Given the description of an element on the screen output the (x, y) to click on. 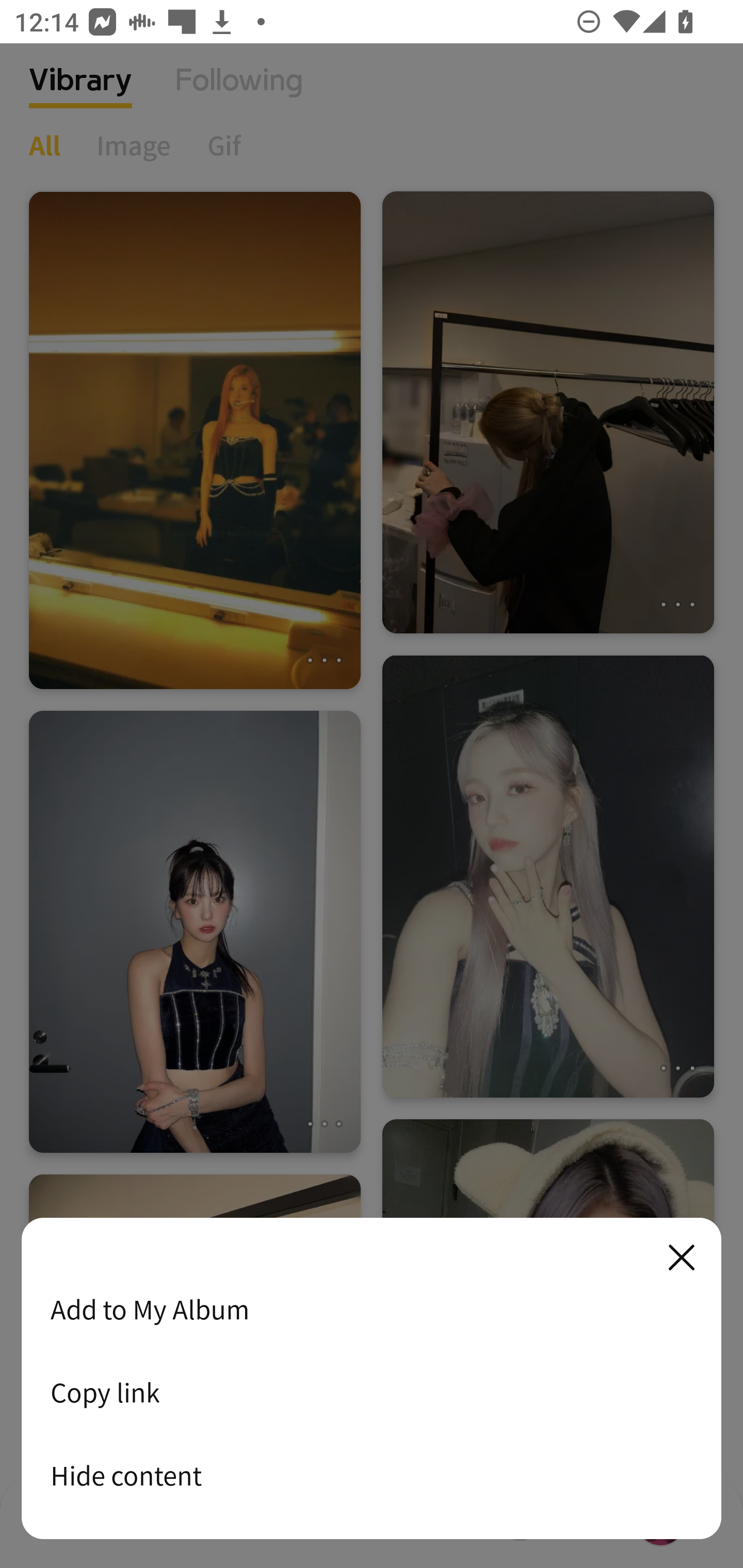
Add to My Album (371, 1308)
Copy link (371, 1391)
Hide content (371, 1474)
